Given the description of an element on the screen output the (x, y) to click on. 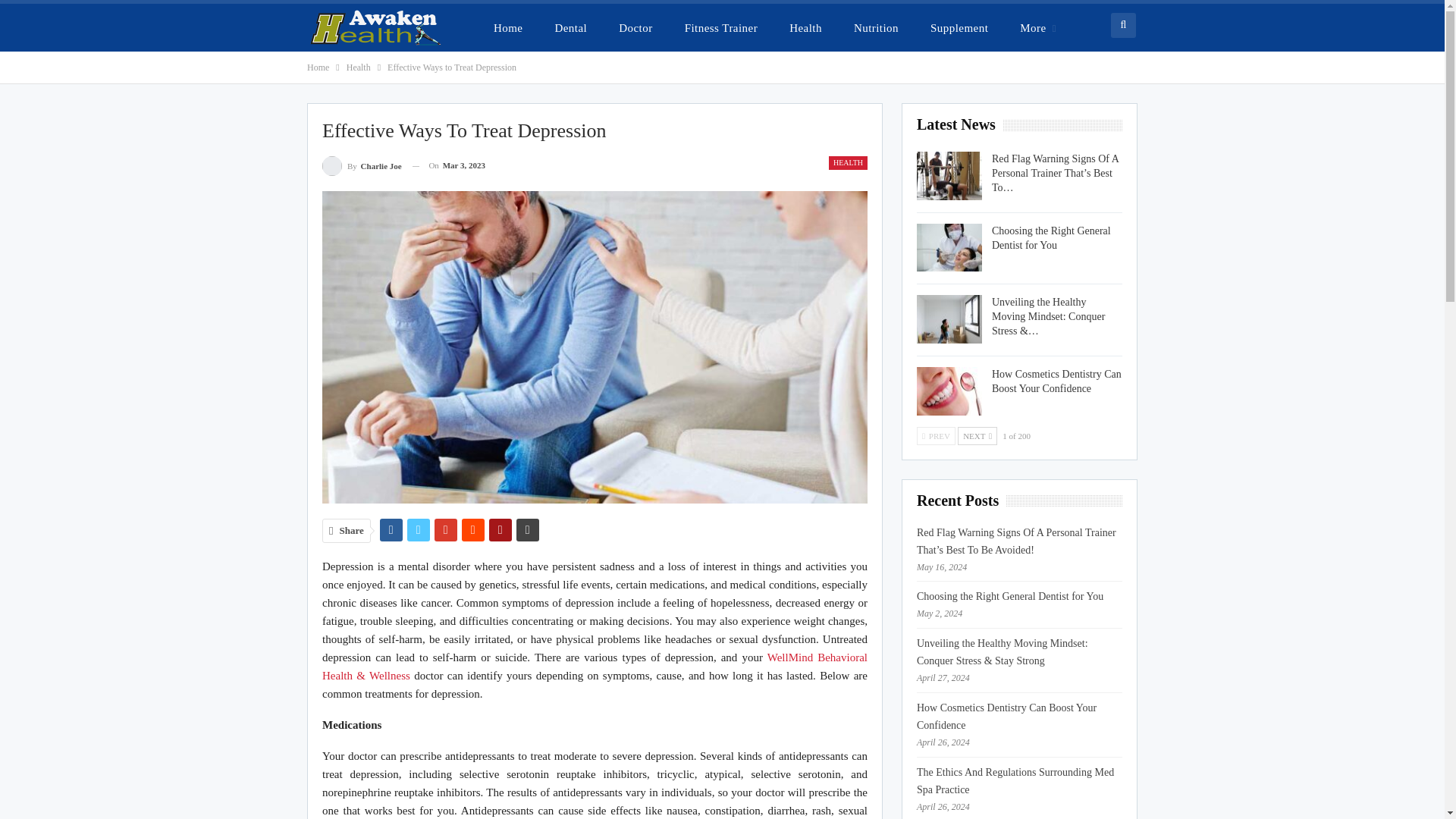
Dental (569, 27)
More (1037, 27)
Health (358, 67)
Browse Author Articles (361, 165)
Nutrition (876, 27)
Supplement (959, 27)
Home (508, 27)
HEALTH (847, 162)
By Charlie Joe (361, 165)
Home (318, 67)
